Given the description of an element on the screen output the (x, y) to click on. 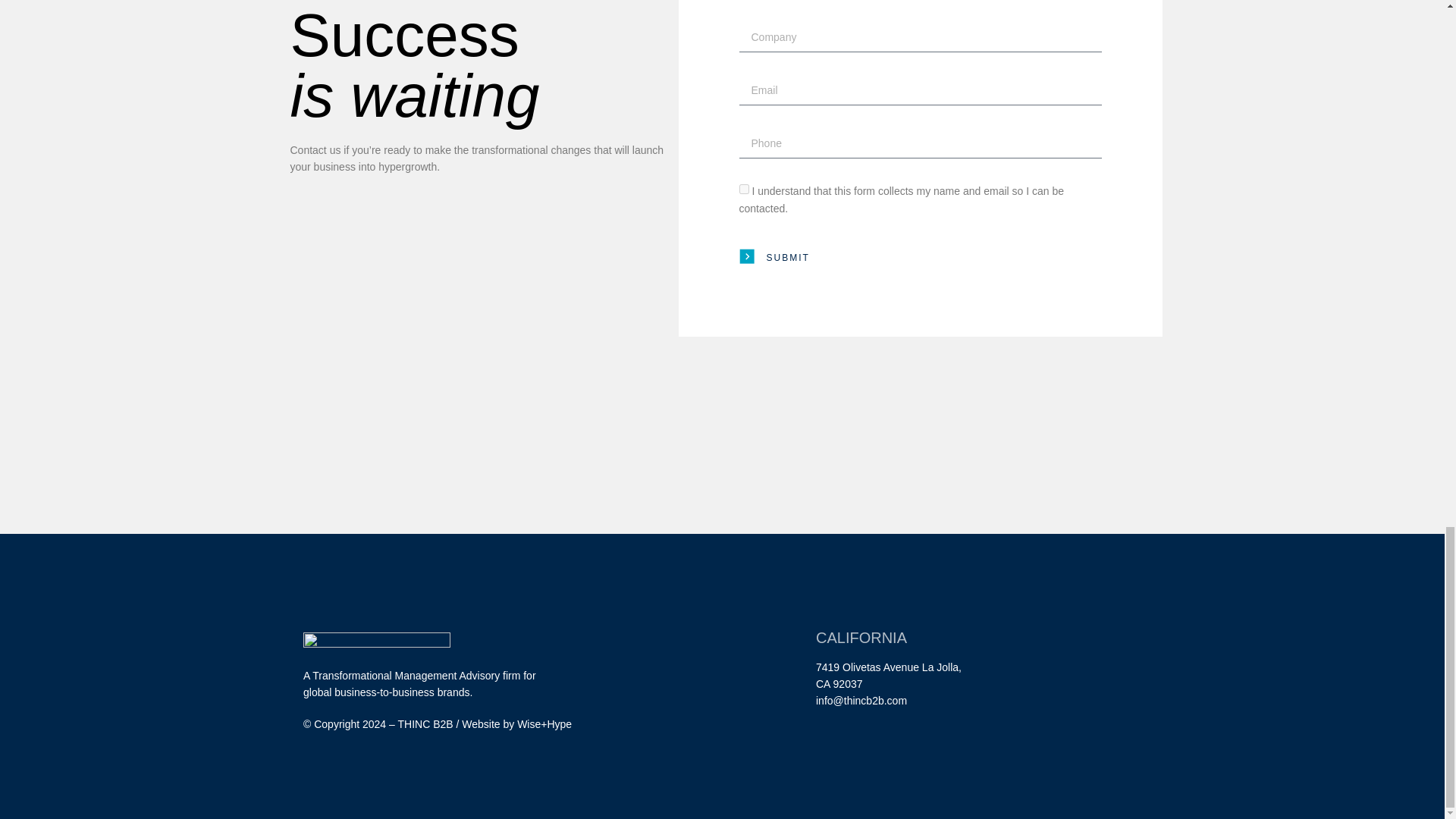
on (743, 189)
7419 Olivetas Avenue (866, 666)
SUBMIT (773, 258)
